Given the description of an element on the screen output the (x, y) to click on. 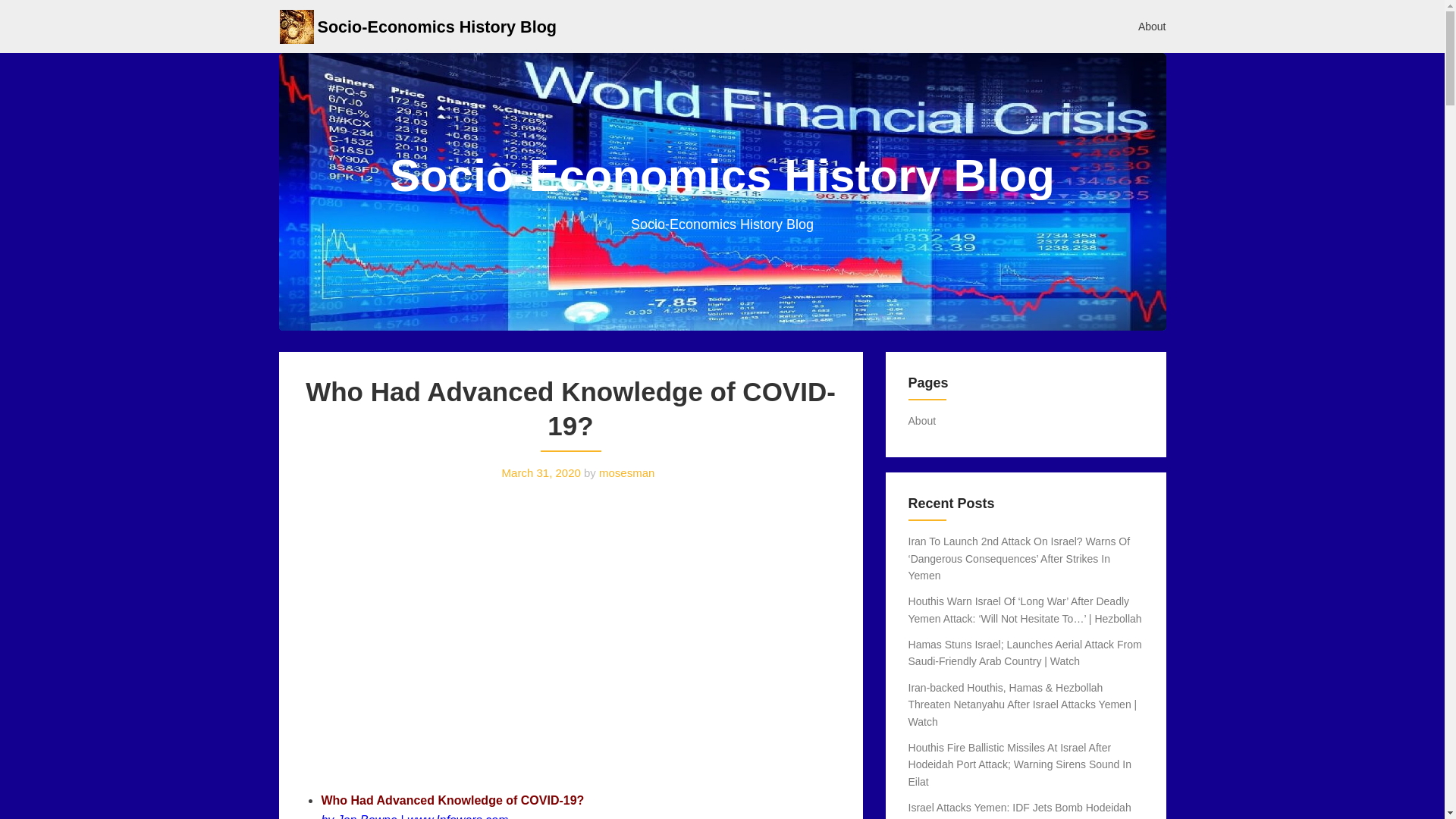
About (922, 420)
March 31, 2020 (541, 472)
Posts by Jon Bowne (367, 816)
Socio-Economics History Blog (436, 26)
Jon Bowne (367, 816)
About (1151, 26)
Who Had Advanced Knowledge of COVID-19? (451, 799)
